Given the description of an element on the screen output the (x, y) to click on. 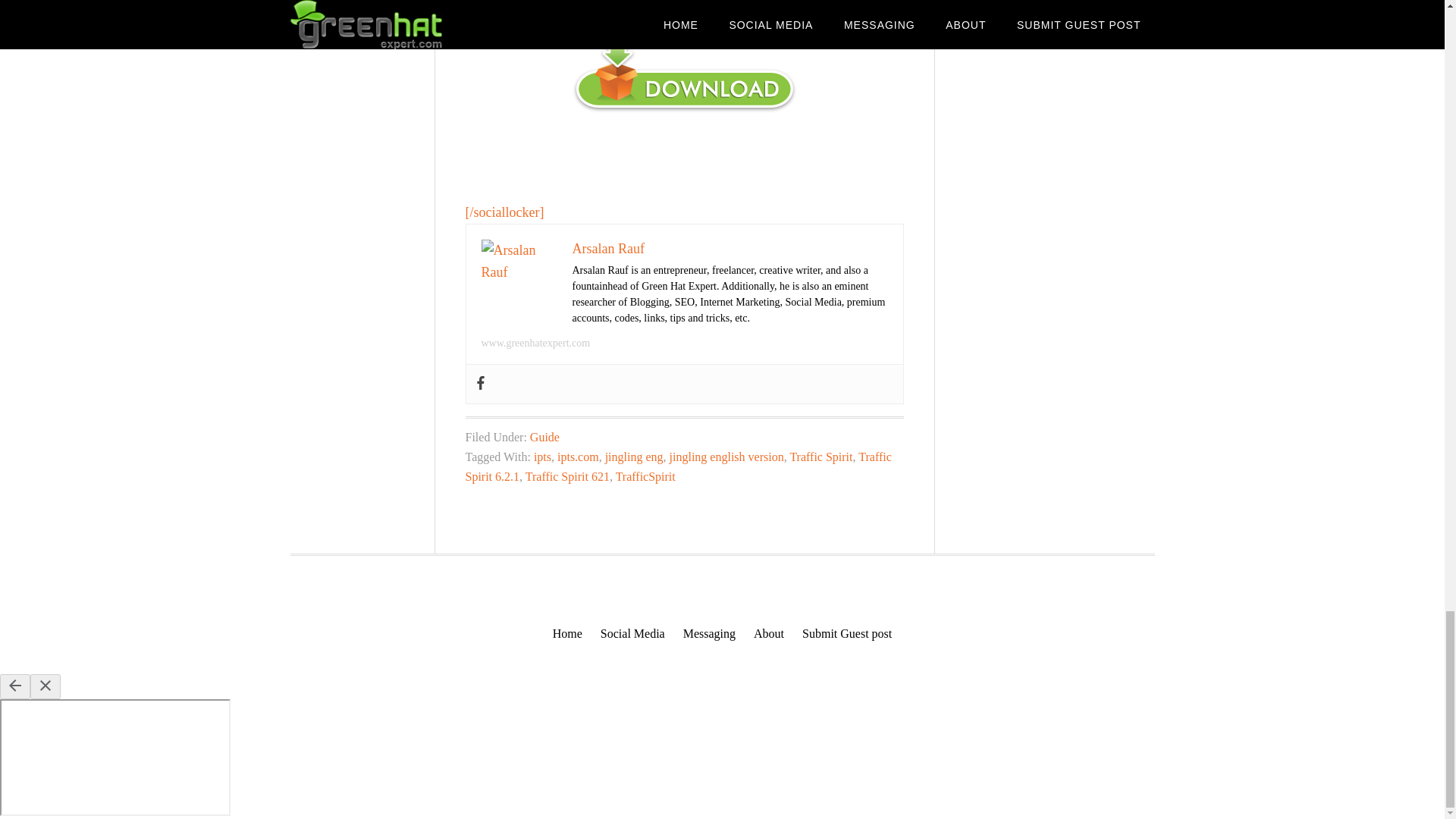
Traffic Spirit 621 (567, 476)
Facebook (479, 383)
jingling eng (634, 456)
Arsalan Rauf (607, 248)
Traffic Spirit (820, 456)
jingling english version (726, 456)
TrafficSpirit (645, 476)
ipts.com (577, 456)
ipts (542, 456)
Guide (544, 436)
www.greenhatexpert.com (534, 342)
Traffic Spirit 6.2.1 (678, 466)
